Given the description of an element on the screen output the (x, y) to click on. 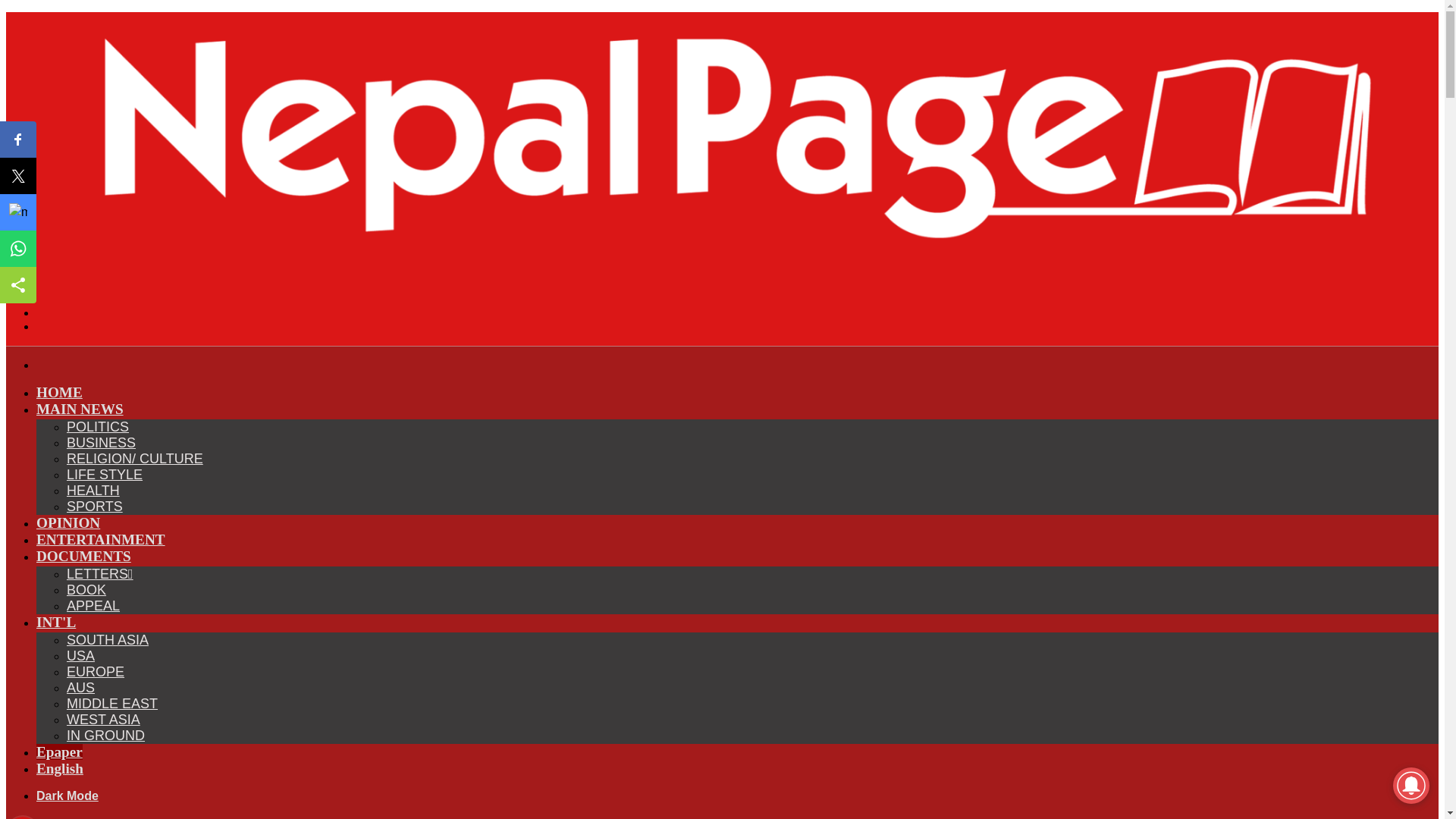
BOOK (86, 589)
AUS (80, 687)
LIFE STYLE (104, 474)
SOUTH ASIA (107, 639)
HOME (59, 392)
DOCUMENTS (85, 555)
APPEAL (92, 605)
INT'L (58, 621)
EUROPE (94, 671)
BUSINESS (100, 442)
OPINION (68, 522)
MIDDLE EAST (111, 703)
POLITICS (97, 426)
Epaper (59, 751)
Dark Mode (67, 795)
